Given the description of an element on the screen output the (x, y) to click on. 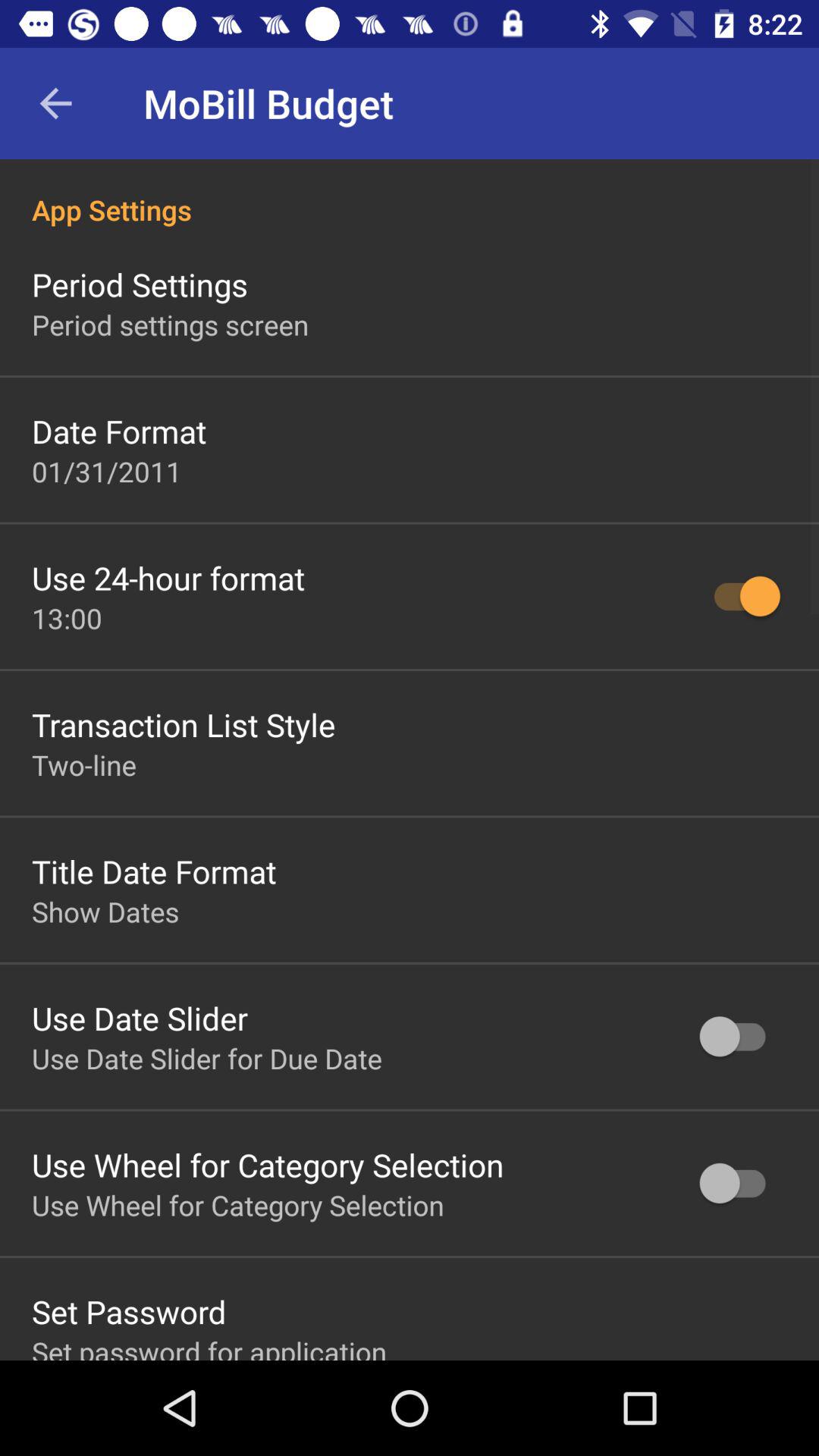
go to the previous screen (55, 103)
